Given the description of an element on the screen output the (x, y) to click on. 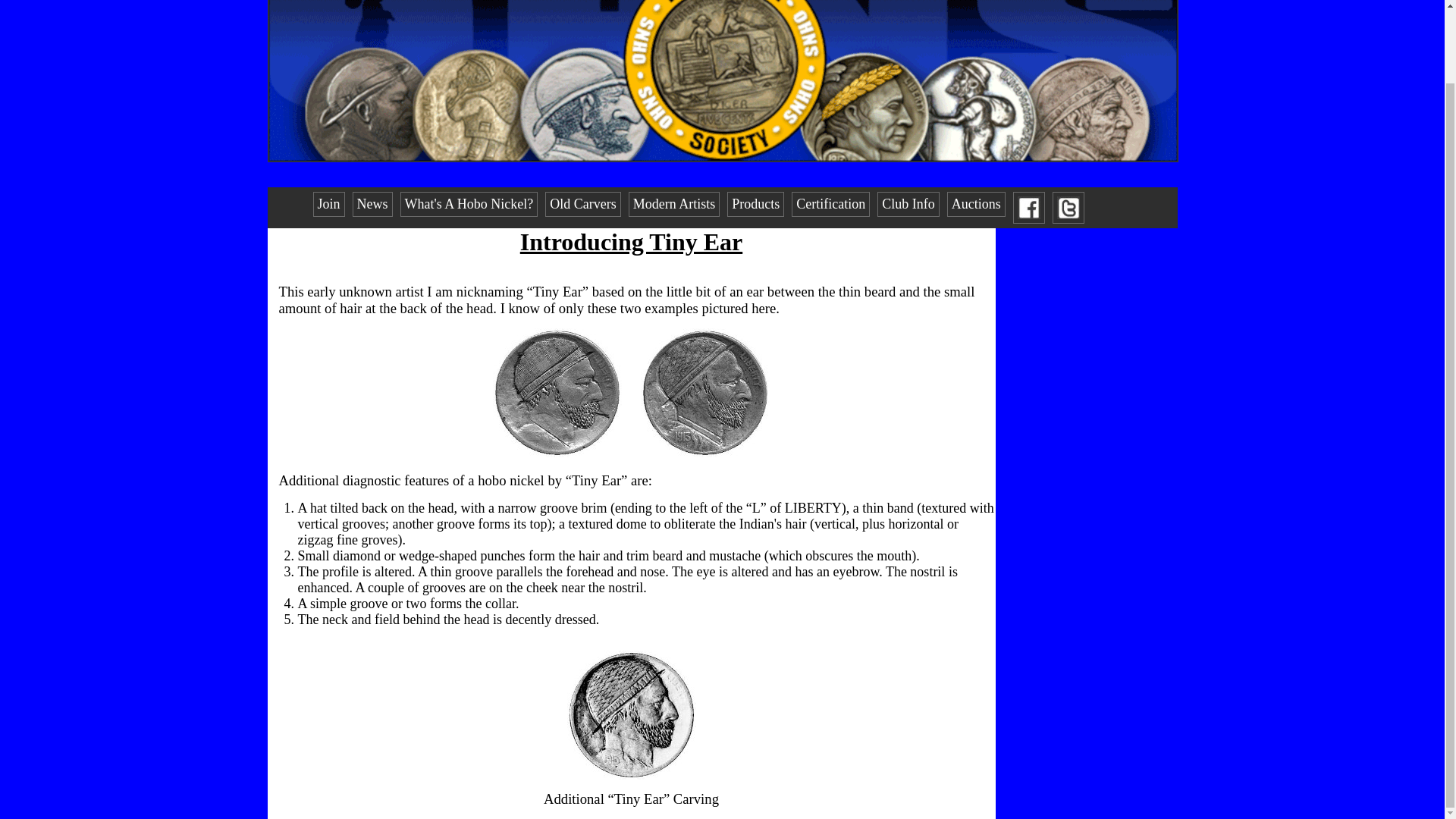
Certification (830, 204)
What's A Hobo Nickel? (469, 204)
News (372, 204)
Join (328, 204)
Old Carvers (582, 204)
Club Info (908, 204)
Modern Artists (674, 204)
Auctions (976, 204)
Products (755, 204)
